Given the description of an element on the screen output the (x, y) to click on. 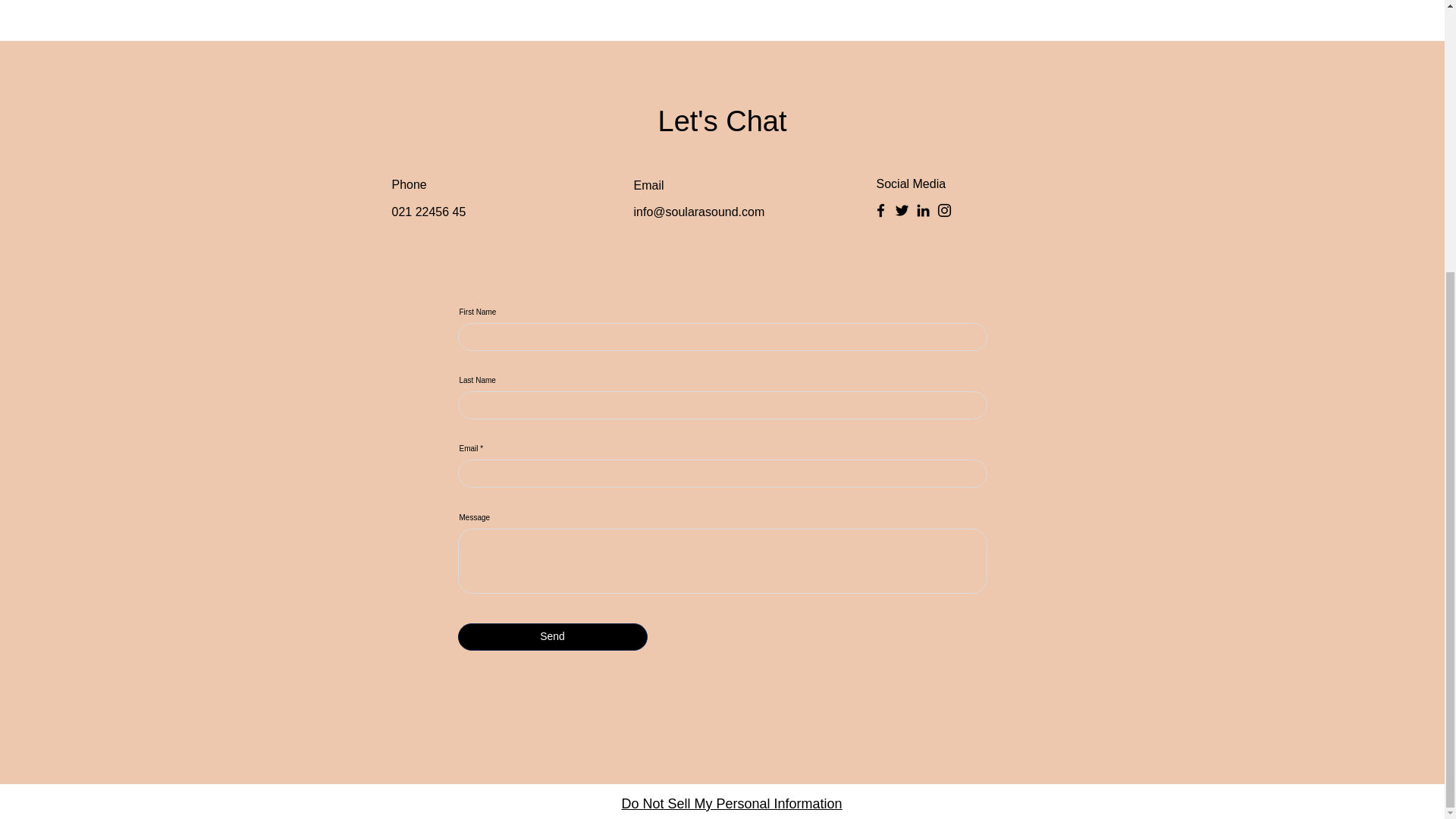
Do Not Sell My Personal Information (732, 804)
Send (552, 636)
